Given the description of an element on the screen output the (x, y) to click on. 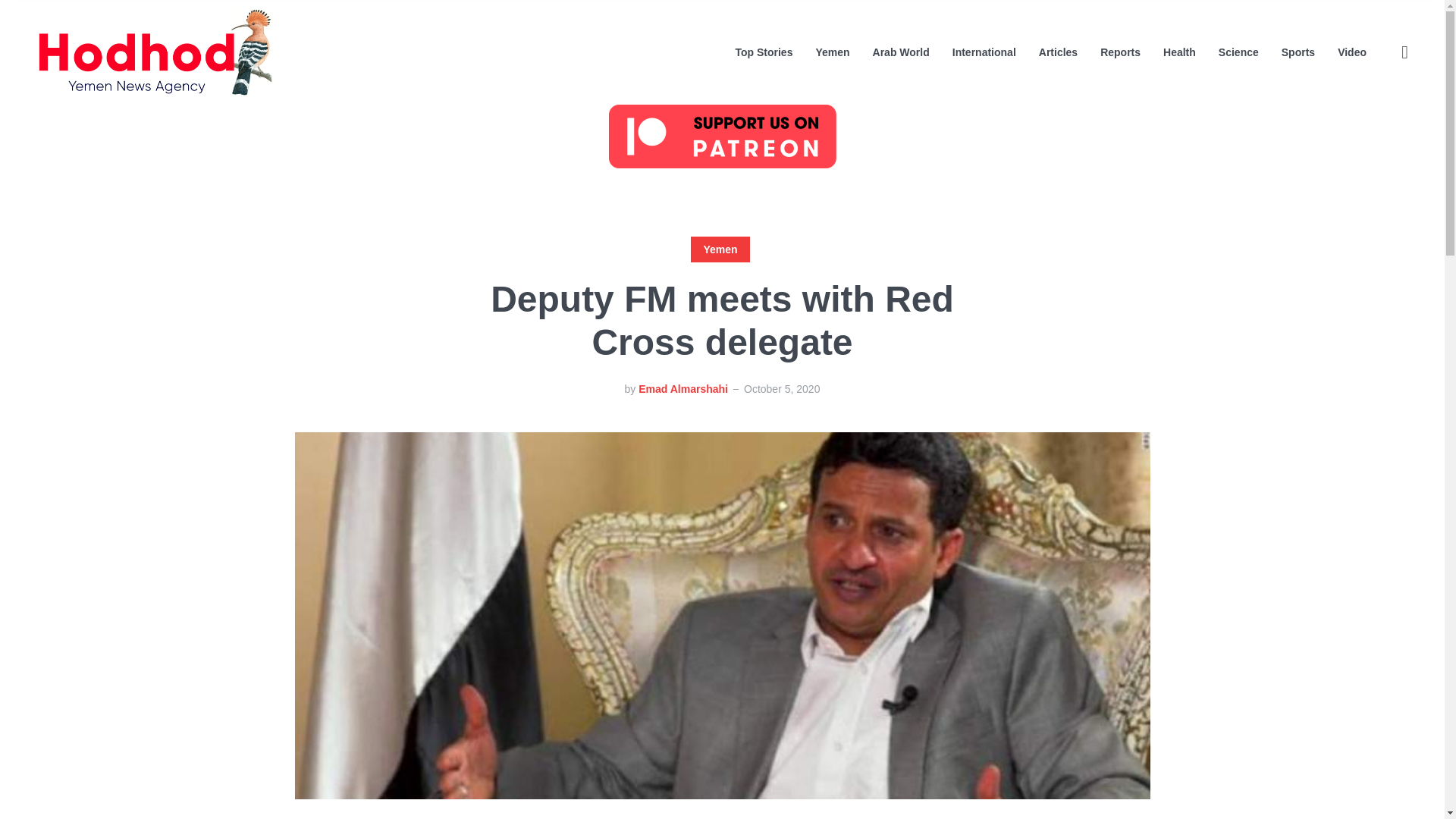
Science (1238, 52)
Yemen (719, 249)
Health (1179, 52)
Yemen (831, 52)
Video (1352, 52)
Arab World (901, 52)
Sports (1297, 52)
Articles (1058, 52)
International (984, 52)
Reports (1120, 52)
Emad Almarshahi (683, 388)
Top Stories (763, 52)
